Given the description of an element on the screen output the (x, y) to click on. 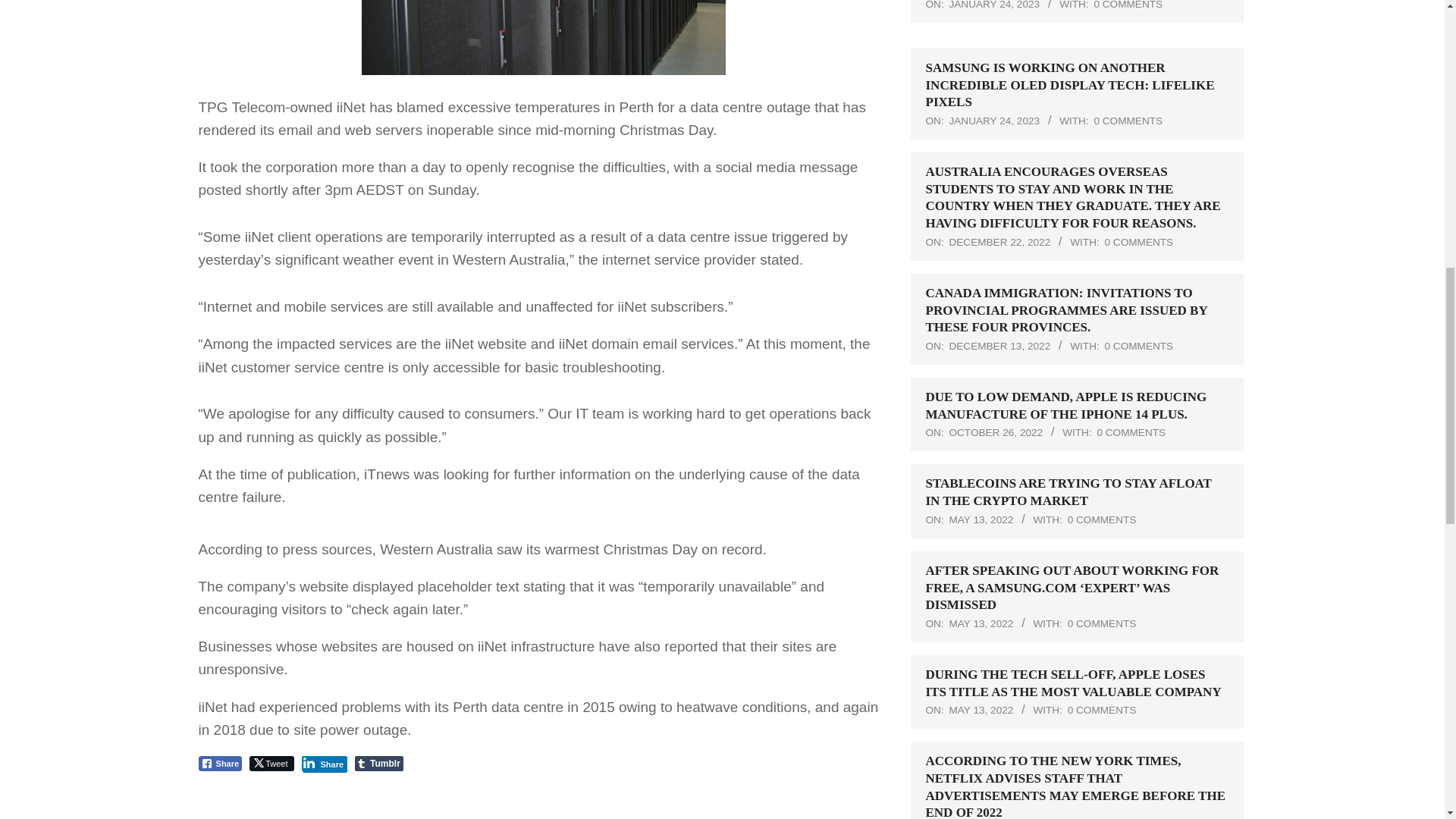
Tumblr (379, 763)
Tuesday, January 24, 2023, 4:58 pm (994, 4)
Wednesday, October 26, 2022, 4:21 am (995, 432)
0 COMMENTS (1139, 346)
Share (220, 763)
0 COMMENTS (1127, 120)
Tweet (271, 763)
Friday, May 13, 2022, 1:36 pm (981, 519)
